Given the description of an element on the screen output the (x, y) to click on. 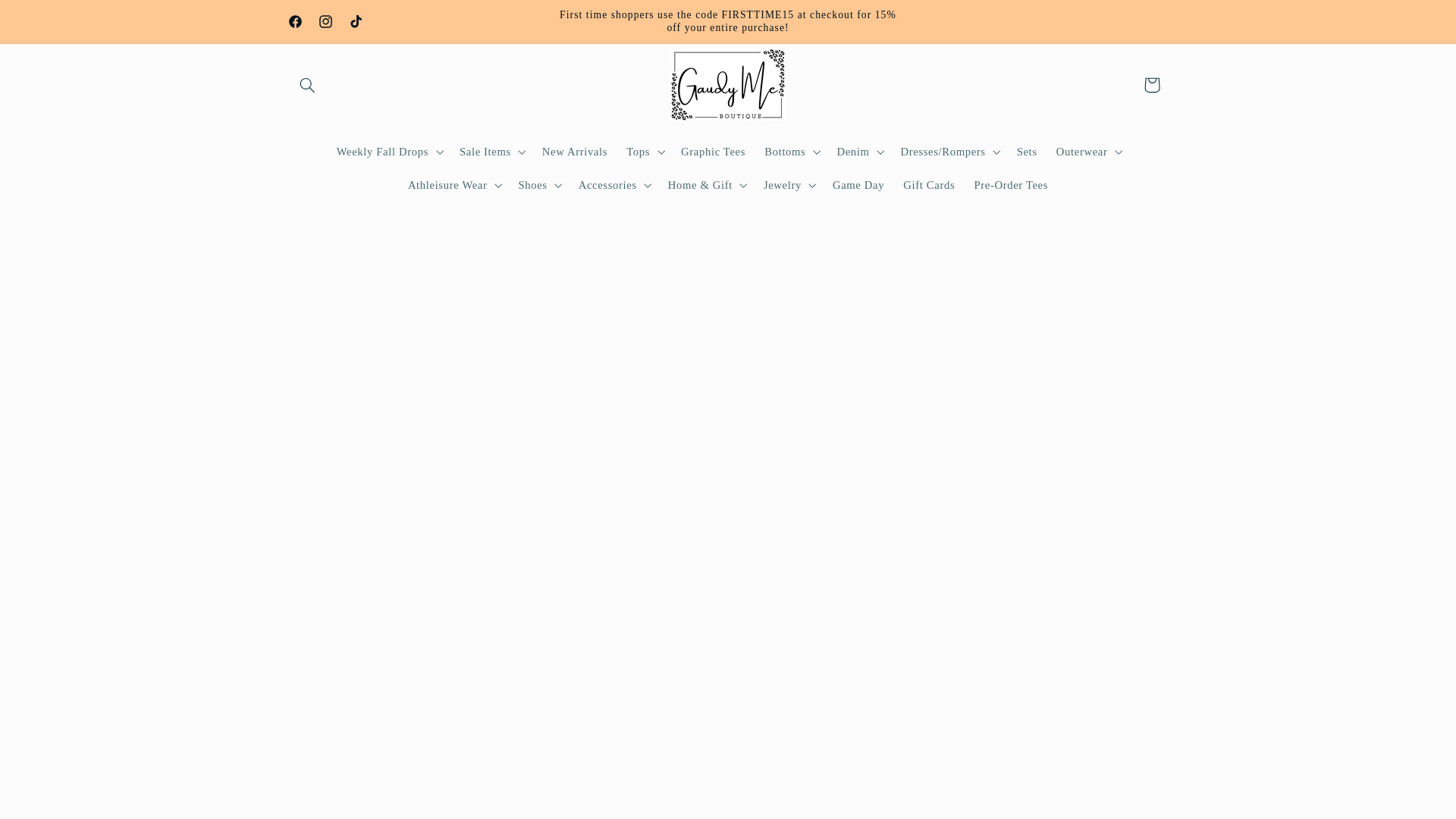
TikTok (355, 20)
Facebook (296, 20)
Instagram (325, 20)
Skip to content (48, 18)
